Given the description of an element on the screen output the (x, y) to click on. 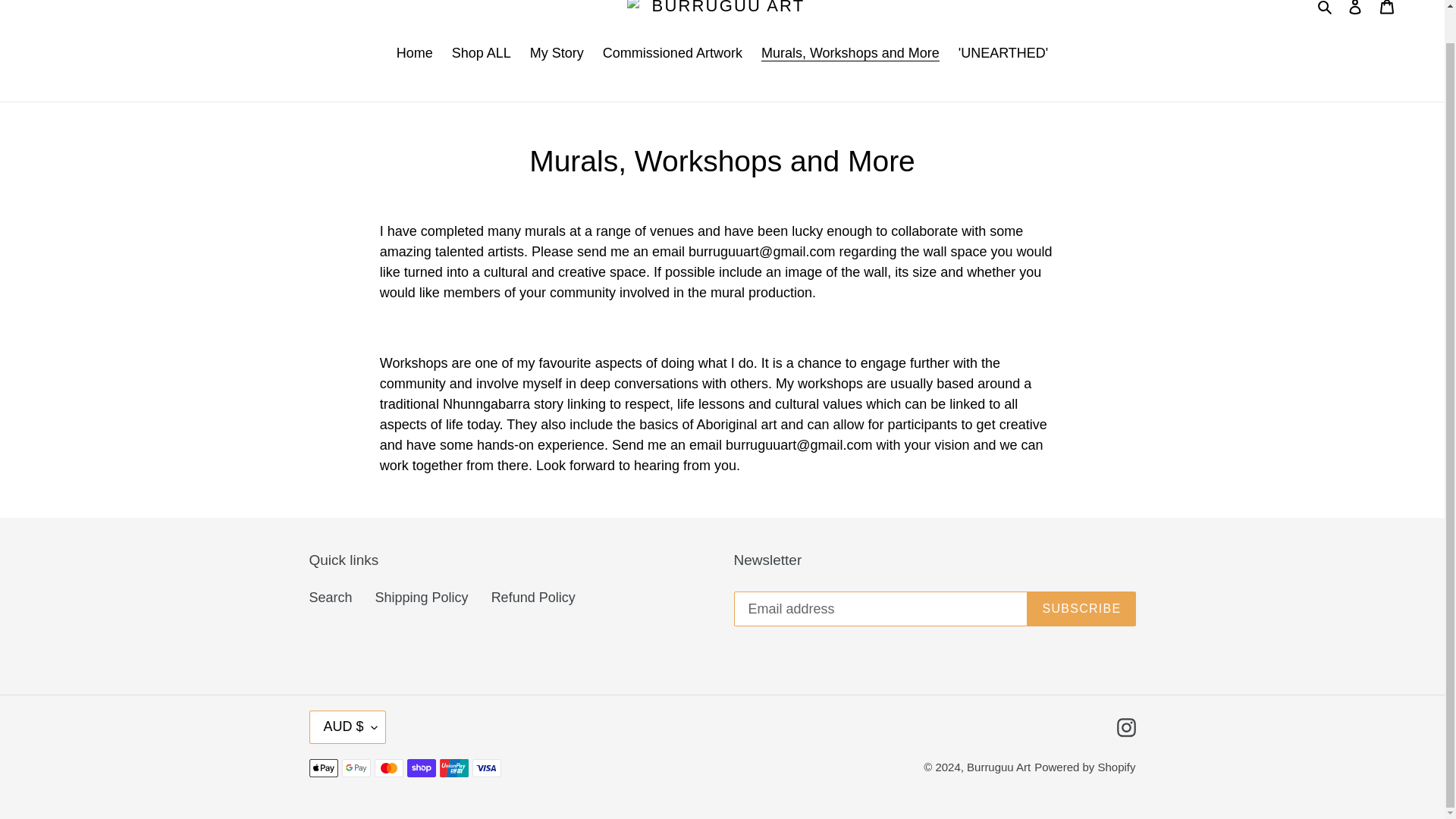
My Story (556, 54)
Log in (1355, 12)
Cart (1387, 12)
'UNEARTHED' (1003, 54)
Murals, Workshops and More (850, 54)
Refund Policy (533, 597)
Shop ALL (481, 54)
Commissioned Artwork (672, 54)
Shipping Policy (421, 597)
SUBSCRIBE (1081, 608)
Home (414, 54)
Search (1326, 8)
Search (330, 597)
